Given the description of an element on the screen output the (x, y) to click on. 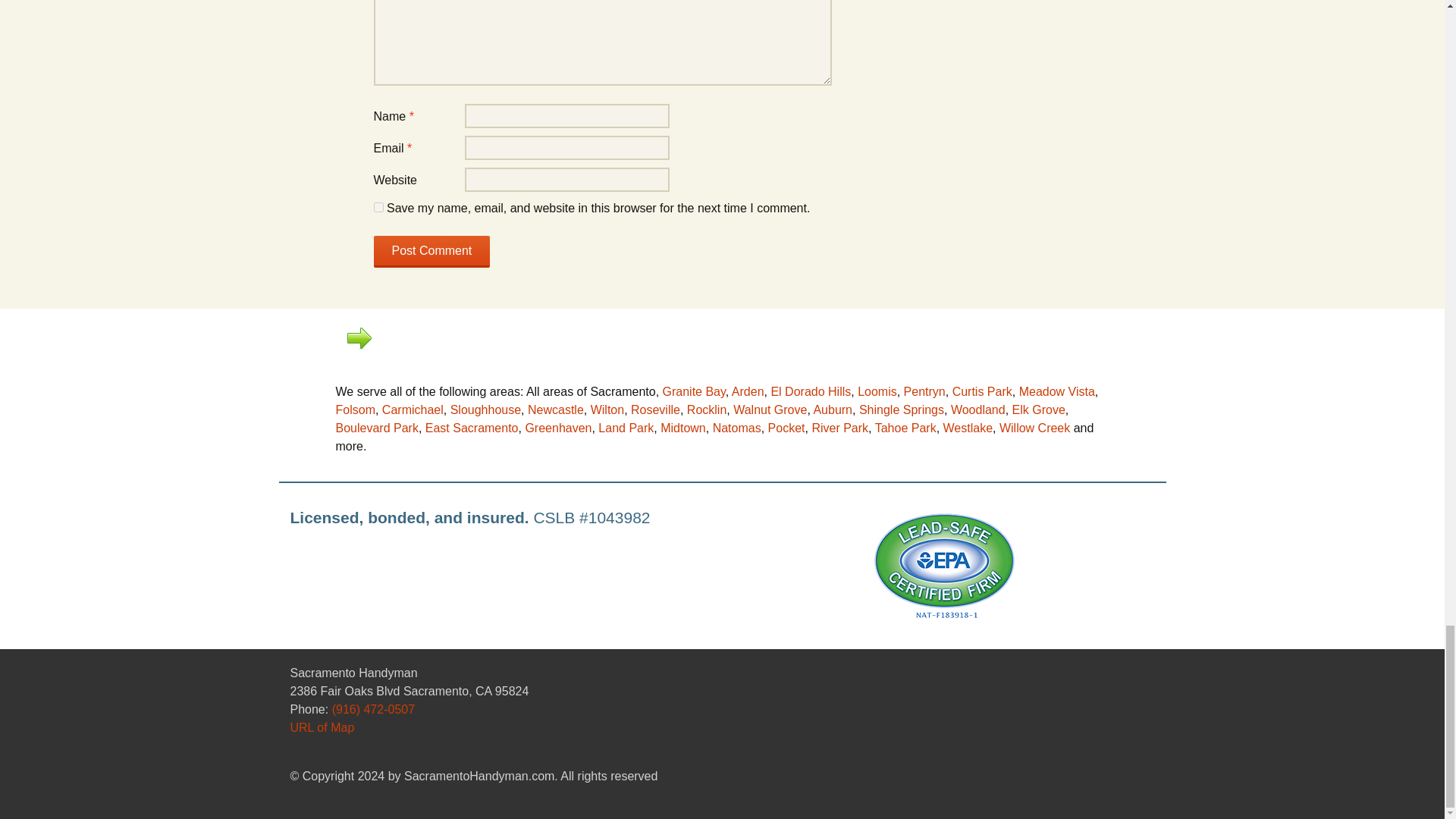
RSS (1093, 710)
yes (377, 207)
Twitter (1144, 710)
Post Comment (430, 251)
Facebook (1118, 710)
